Given the description of an element on the screen output the (x, y) to click on. 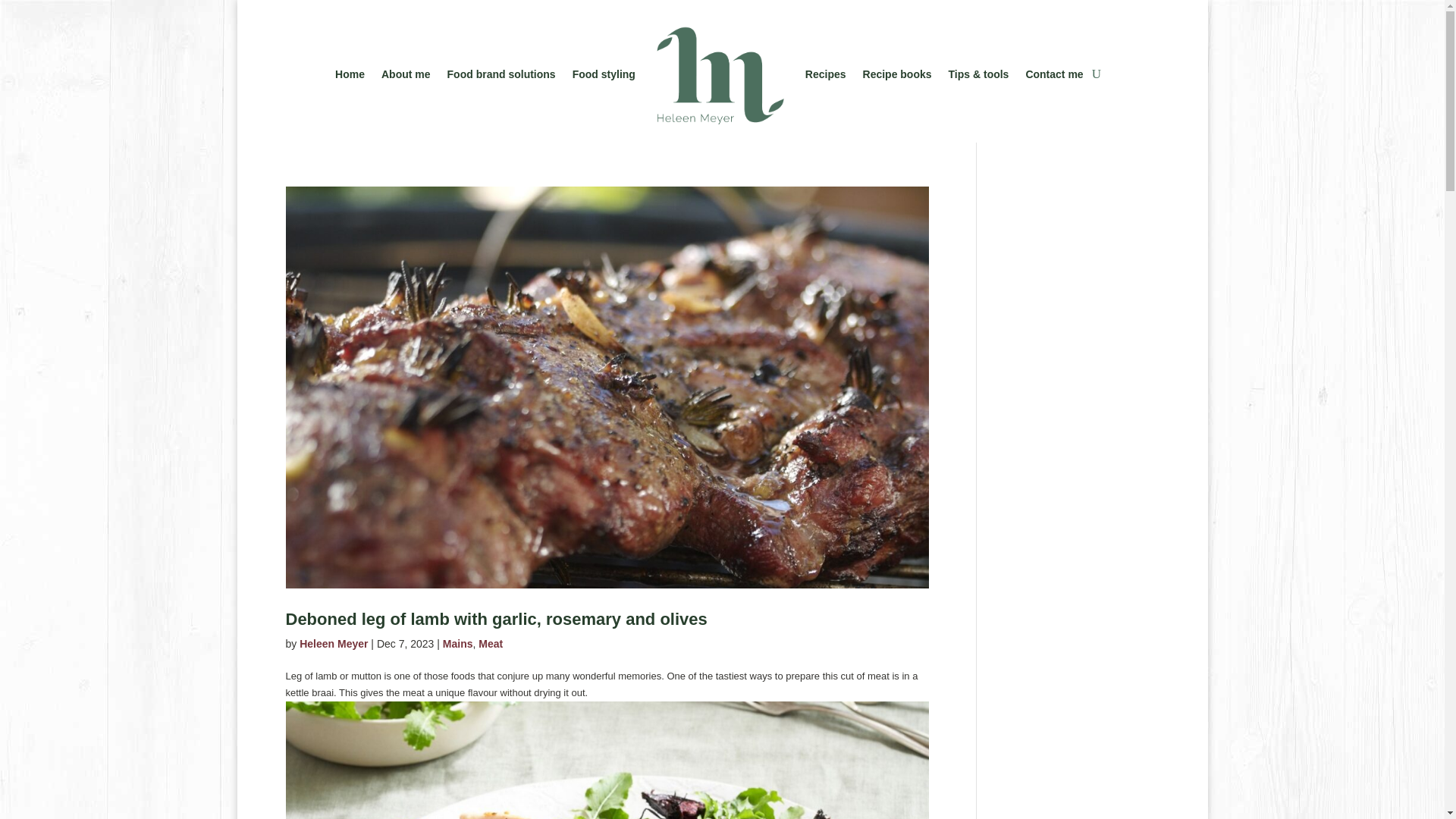
Food brand solutions (501, 74)
Meat (490, 644)
Posts by Heleen Meyer (333, 644)
Deboned leg of lamb with garlic, rosemary and olives (495, 618)
Heleen Meyer (333, 644)
Mains (457, 644)
